Given the description of an element on the screen output the (x, y) to click on. 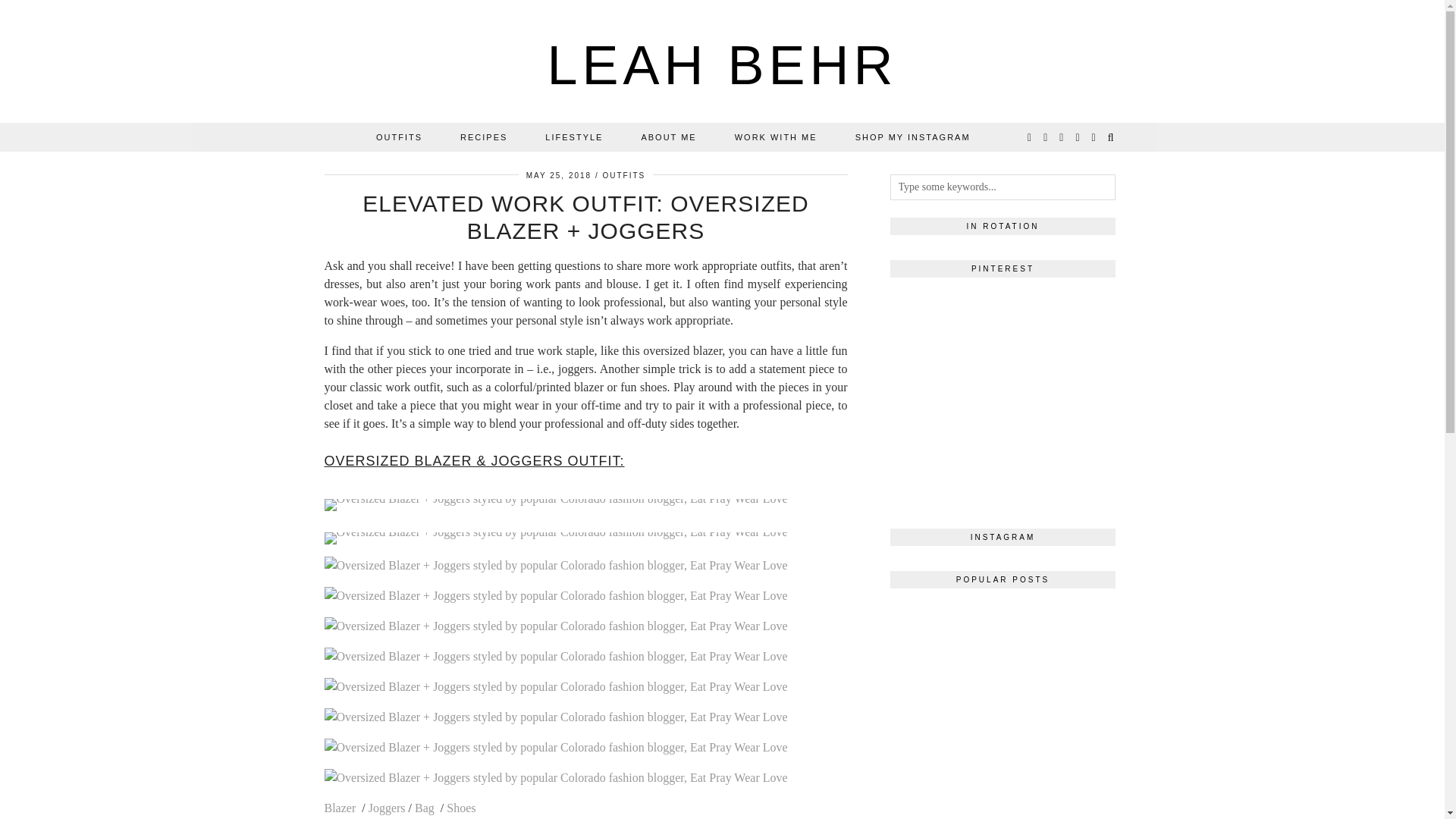
SHOP MY INSTAGRAM (912, 136)
RECIPES (483, 136)
OUTFITS (398, 136)
Leah Behr (721, 65)
LEAH BEHR (721, 65)
LIFESTYLE (573, 136)
ABOUT ME (667, 136)
WORK WITH ME (775, 136)
OUTFITS (623, 175)
